Given the description of an element on the screen output the (x, y) to click on. 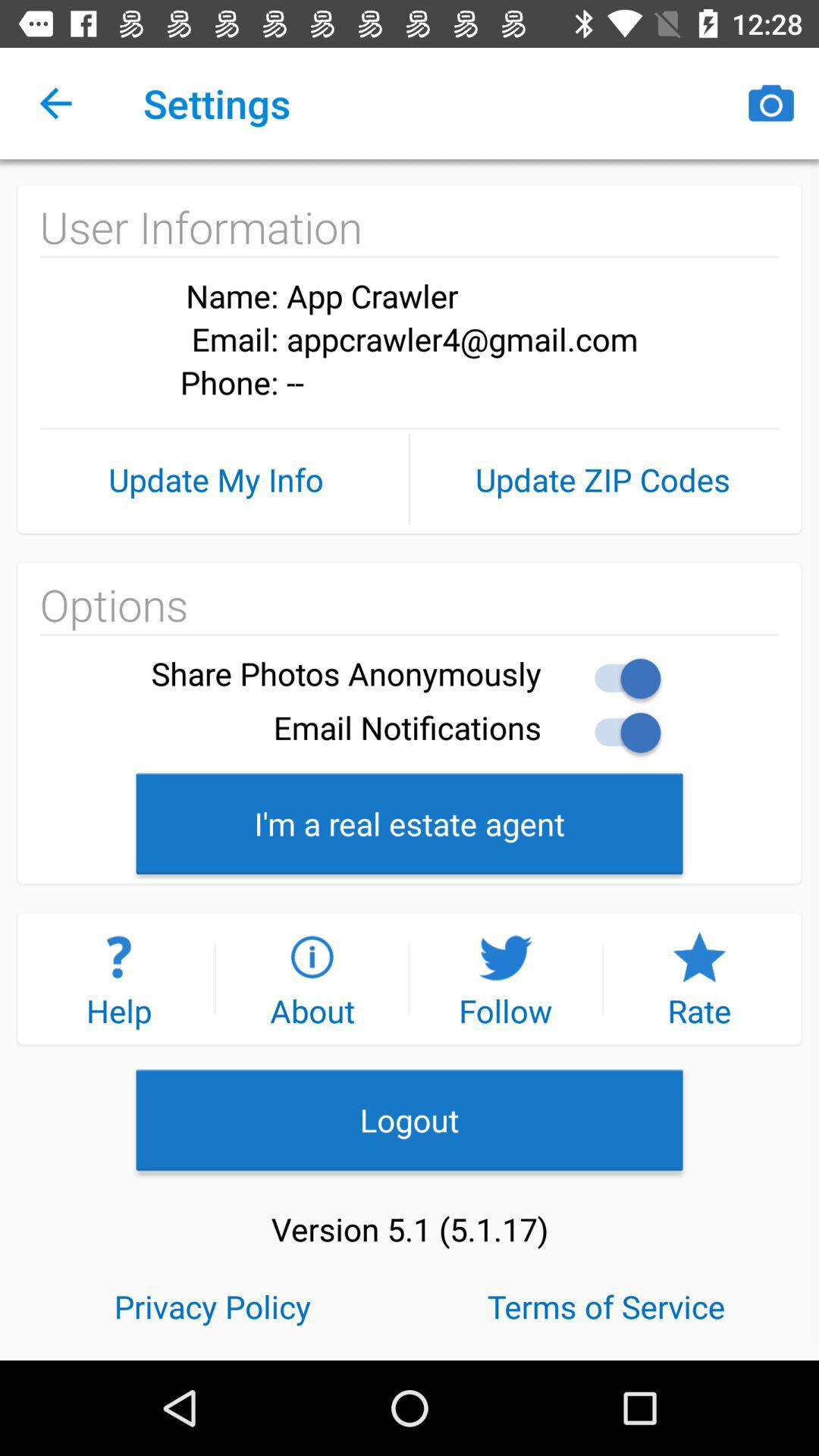
scroll until the update zip codes item (602, 478)
